Given the description of an element on the screen output the (x, y) to click on. 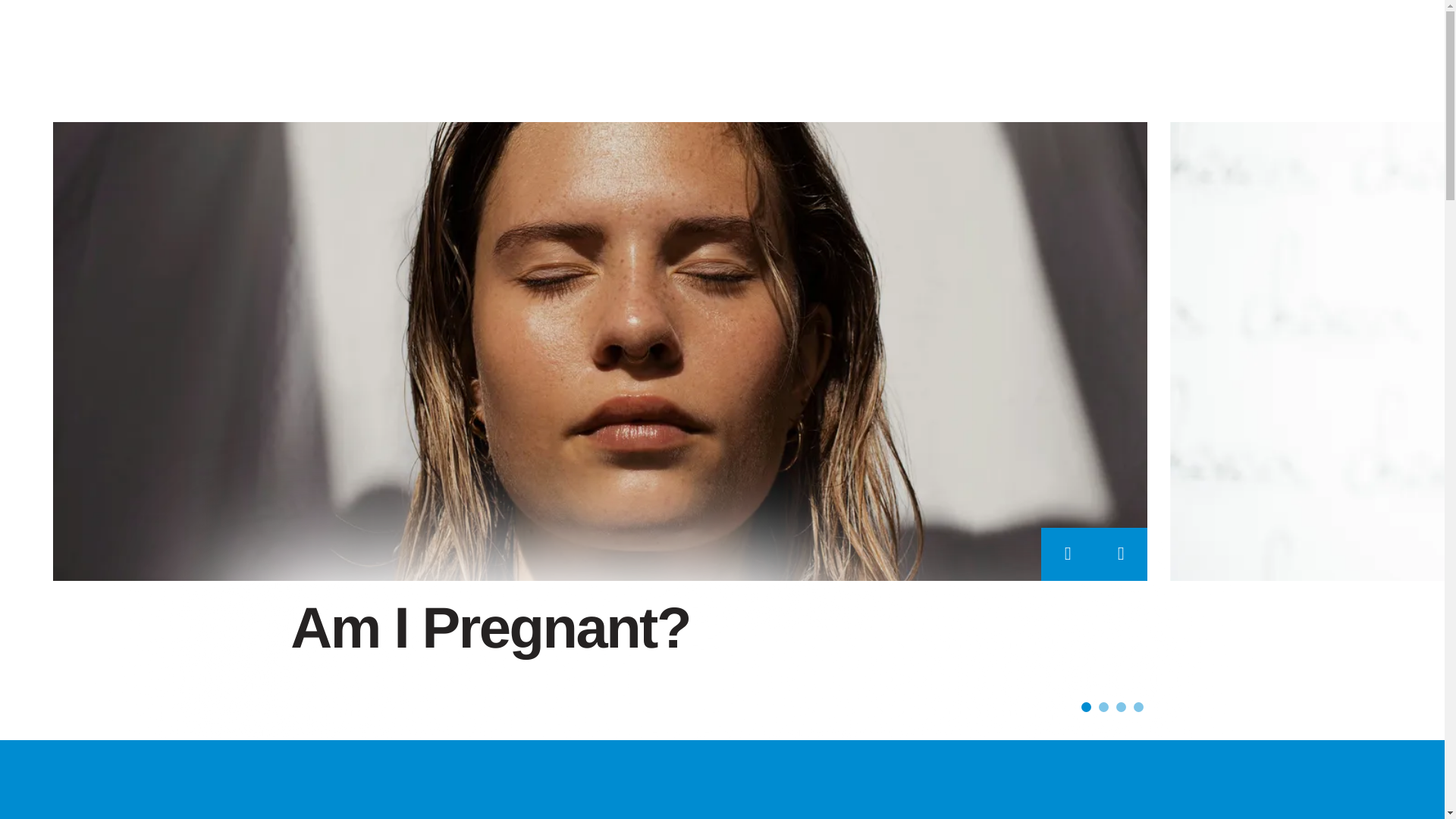
Go to Next Slide (1120, 553)
Go to Previous Slide (1067, 553)
Go to Next Slide (1120, 553)
Go to Previous Slide (1067, 553)
